Given the description of an element on the screen output the (x, y) to click on. 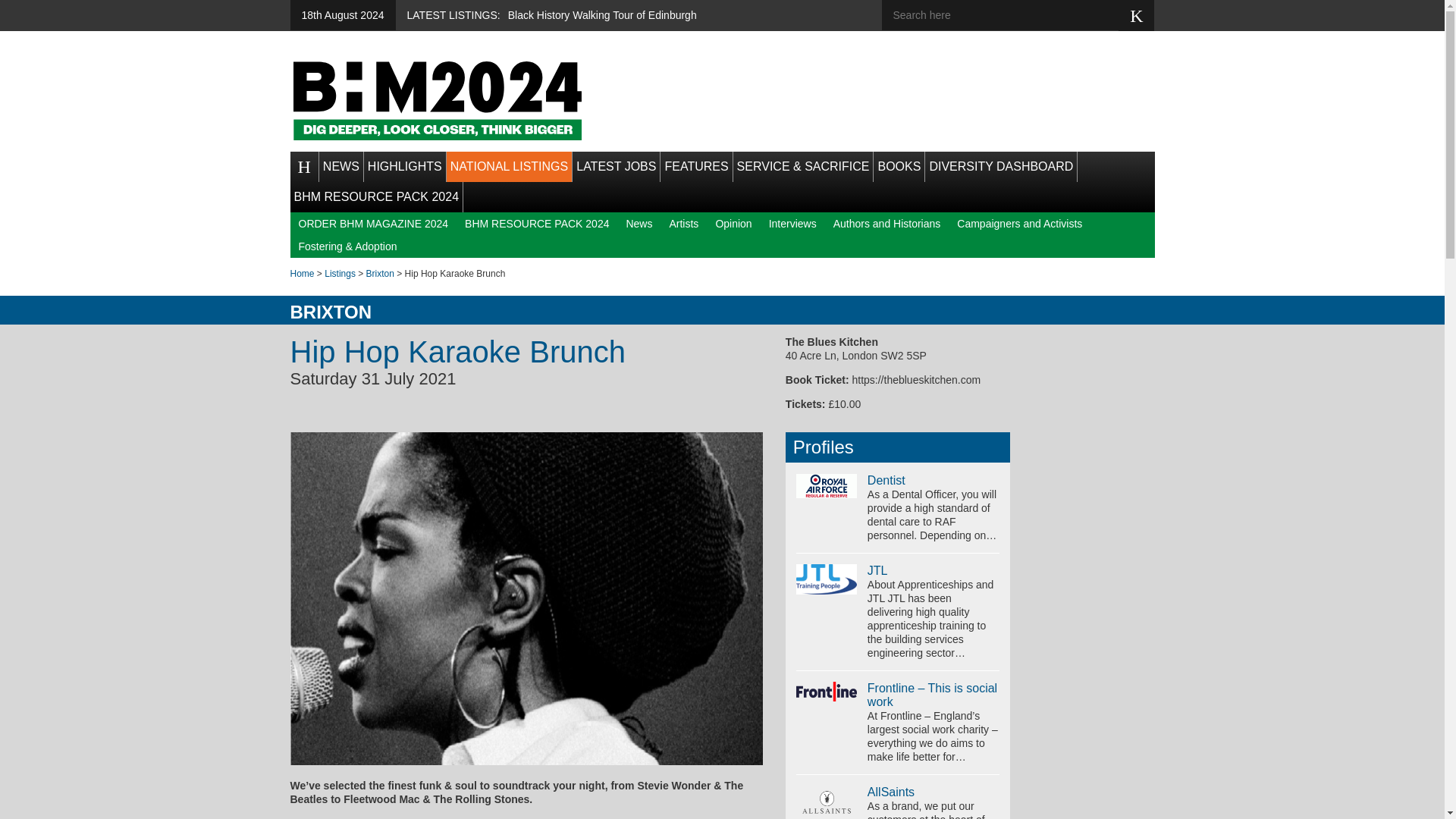
Black History Walking Tour of Edinburgh (602, 15)
JTL (877, 570)
Dentist (826, 485)
AllSaints (890, 791)
Black History Month 2024: Black History Month 2024 (437, 100)
JTL (826, 579)
Search here (1010, 15)
AllSaints (826, 802)
Dentist (886, 480)
